Given the description of an element on the screen output the (x, y) to click on. 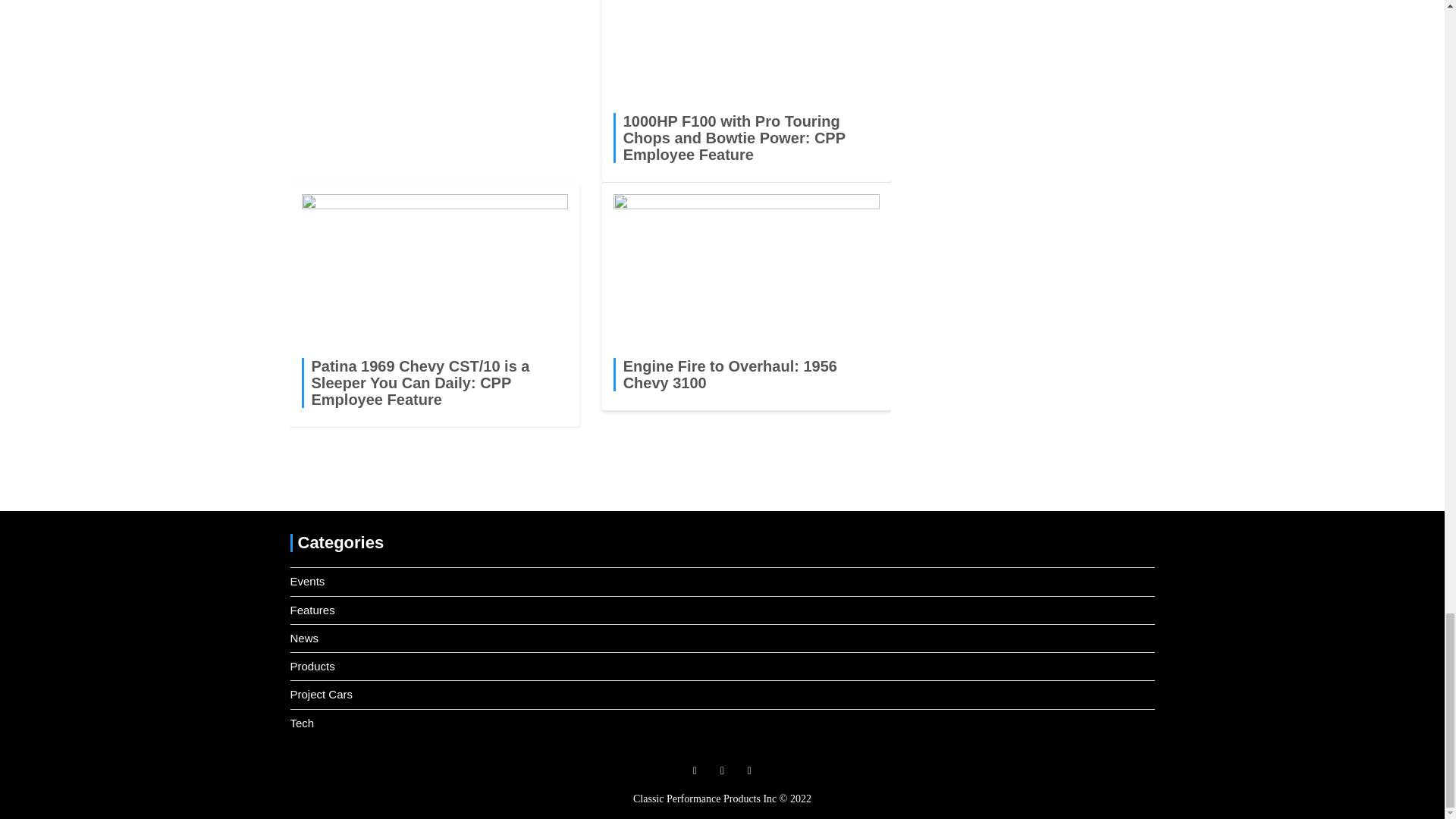
Facebook (694, 770)
Instagram (721, 770)
Youtube (748, 770)
